Given the description of an element on the screen output the (x, y) to click on. 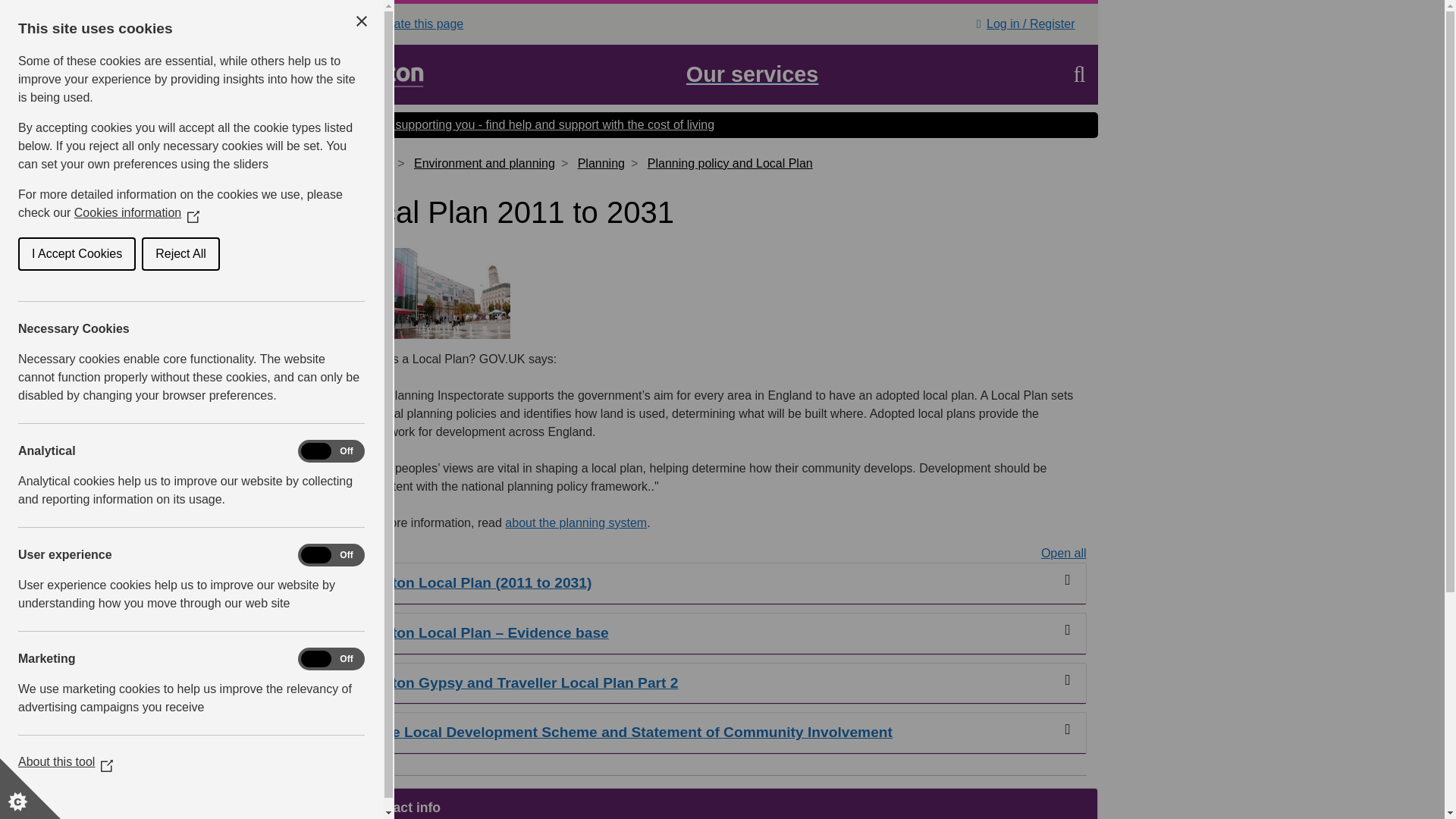
Luton Borough Council (397, 74)
Open all (1063, 553)
Rate this page (377, 24)
Planning (601, 163)
Planning policy and Local Plan (729, 163)
Rate this page (416, 23)
My account (979, 24)
Home (375, 163)
Environment and planning (483, 163)
Reject All (41, 254)
about the planning system (575, 522)
Our services (751, 74)
